Given the description of an element on the screen output the (x, y) to click on. 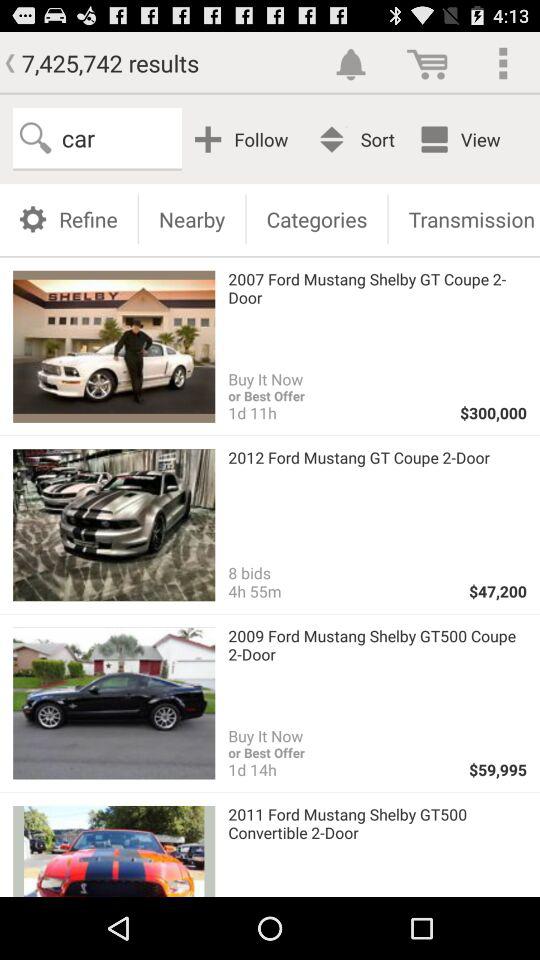
turn on the icon above 2007 ford mustang item (464, 218)
